Given the description of an element on the screen output the (x, y) to click on. 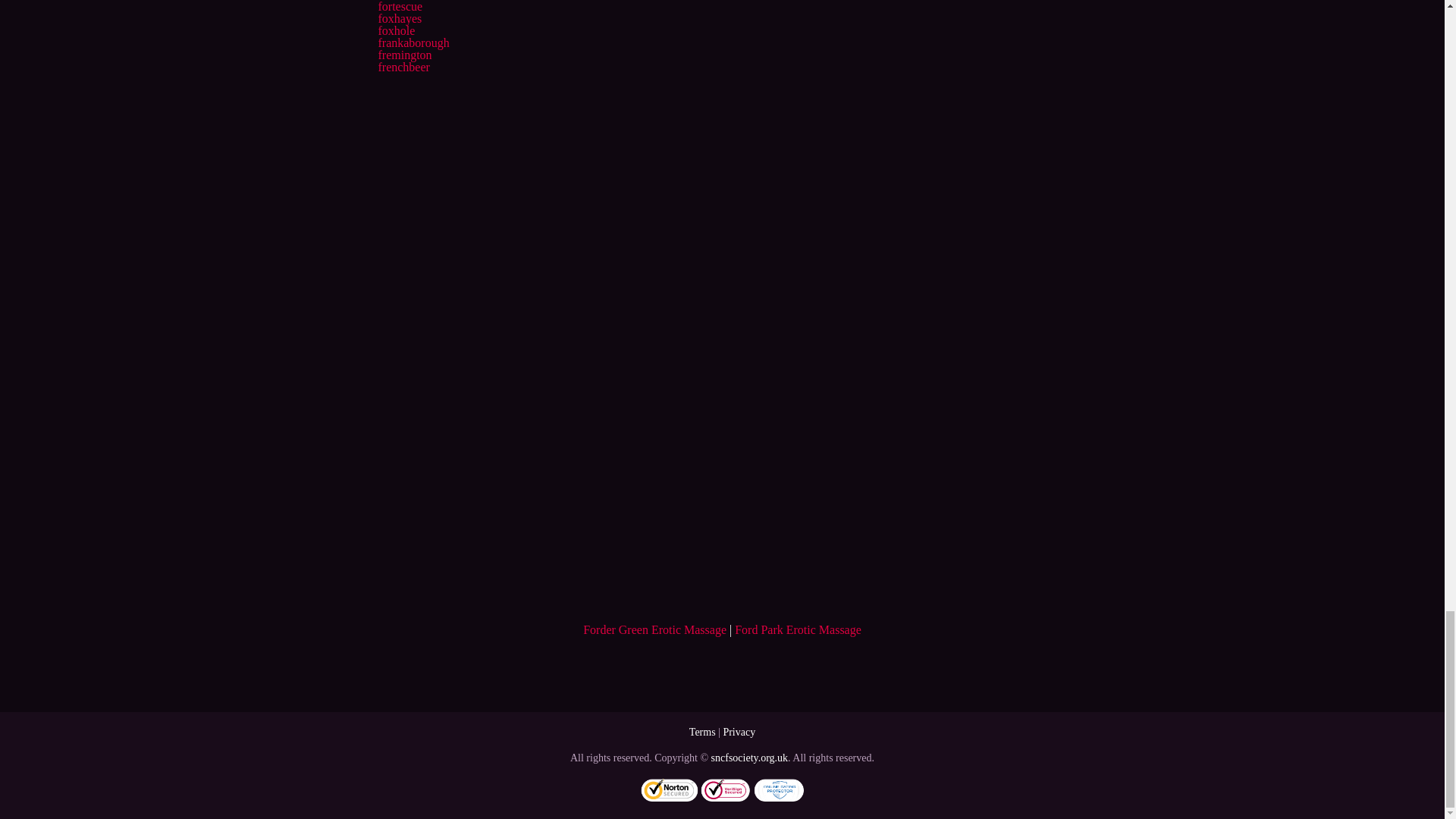
foxhayes (399, 18)
Privacy (738, 731)
Privacy (738, 731)
Ford Park Erotic Massage (798, 629)
foxhole (395, 30)
forestreet (400, 0)
fremington (403, 54)
sncfsociety.org.uk (749, 757)
fortescue (399, 6)
frenchbeer (403, 66)
Terms (702, 731)
Terms (702, 731)
Forder Green Erotic Massage (654, 629)
frankaborough (412, 42)
